Given the description of an element on the screen output the (x, y) to click on. 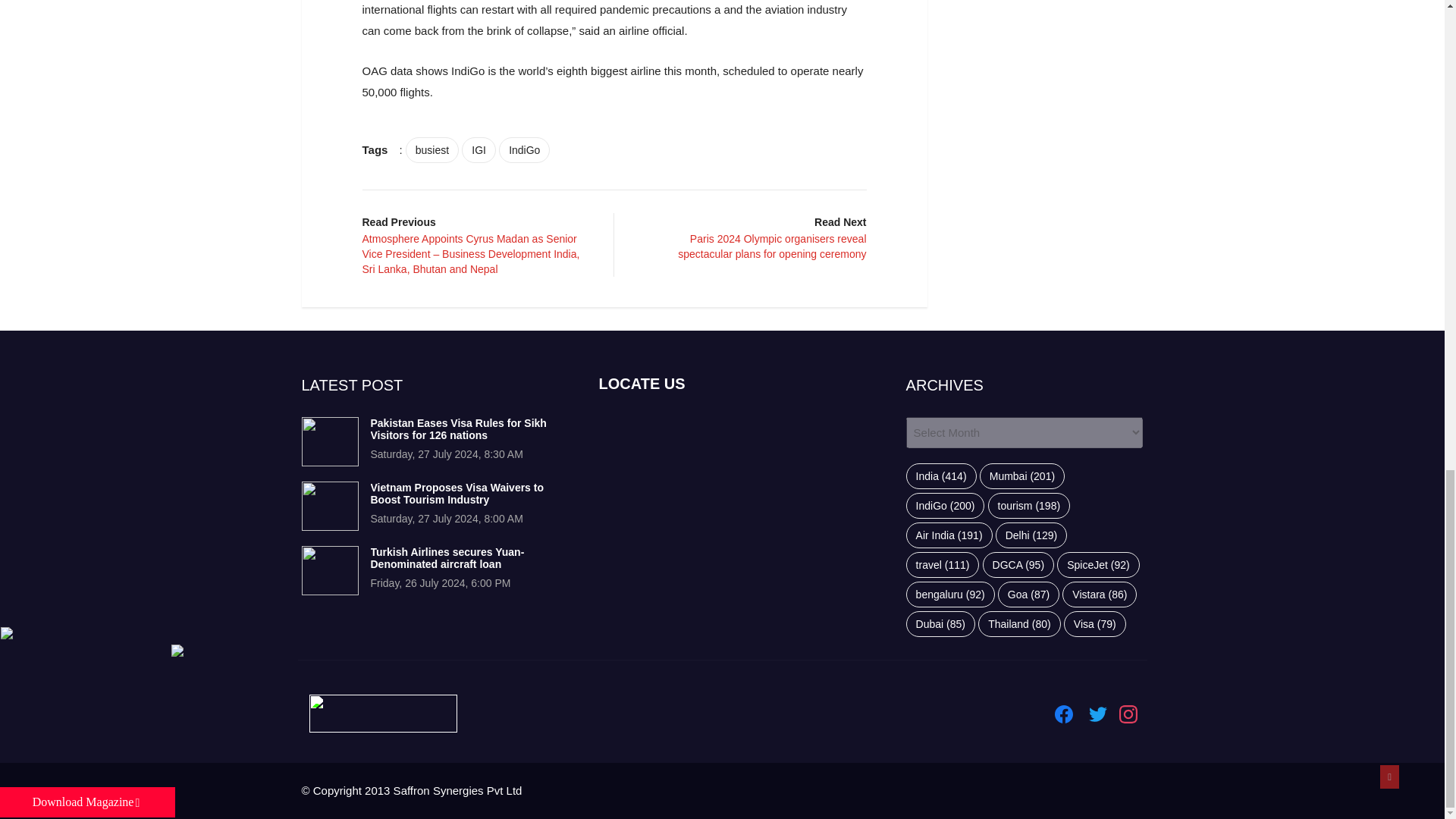
Facebook (1063, 714)
Instagram (1128, 714)
Pakistan Eases Visa Rules for Sikh Visitors for 126 nations (457, 429)
Twitter (1097, 714)
Turkish Airlines secures Yuan-Denominated aircraft loan (446, 558)
Pakistan Eases Visa Rules for Sikh Visitors for 126 nations (329, 441)
Vietnam Proposes Visa Waivers to Boost Tourism Industry (456, 493)
Vietnam Proposes Visa Waivers to Boost Tourism Industry (329, 505)
Turkish Airlines secures Yuan-Denominated aircraft loan (329, 570)
